Given the description of an element on the screen output the (x, y) to click on. 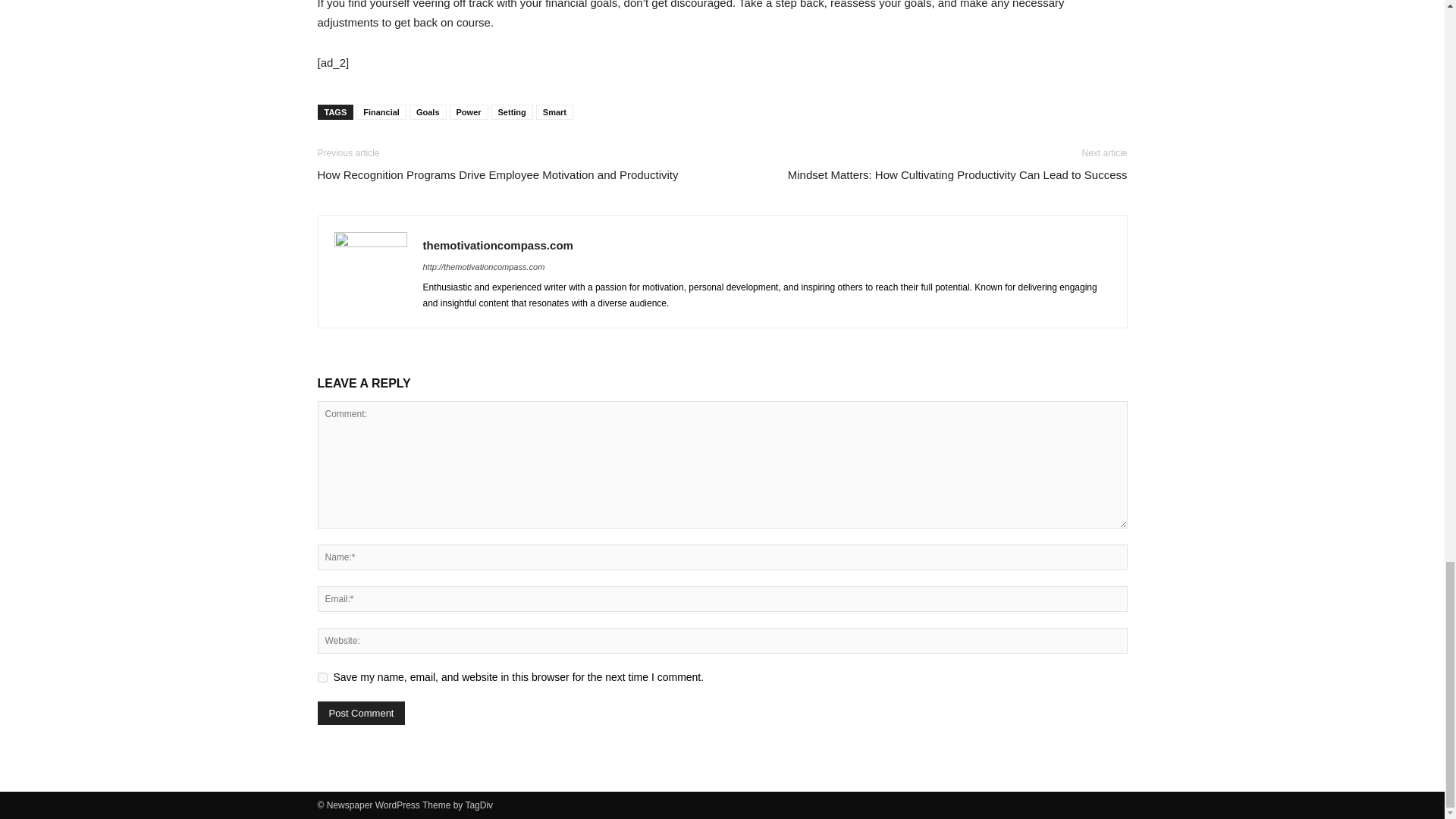
Financial (381, 111)
Goals (427, 111)
Setting (512, 111)
Smart (554, 111)
Power (468, 111)
Post Comment (360, 712)
Post Comment (360, 712)
yes (321, 677)
themotivationcompass.com (498, 245)
